Given the description of an element on the screen output the (x, y) to click on. 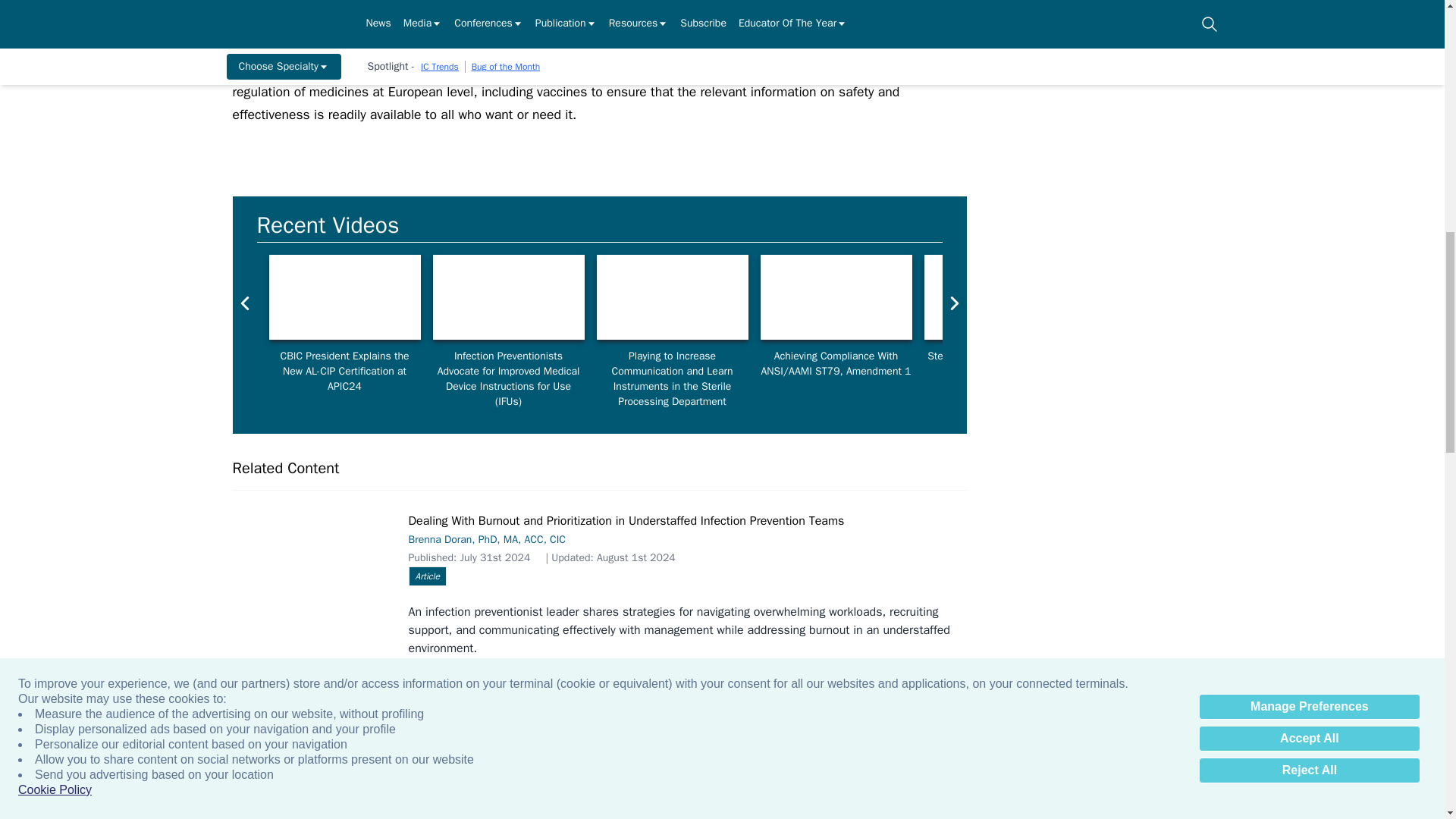
Jill Holdsworth, MS, CIC, FAPIC, CRCST, NREMT, CHL (835, 297)
